Given the description of an element on the screen output the (x, y) to click on. 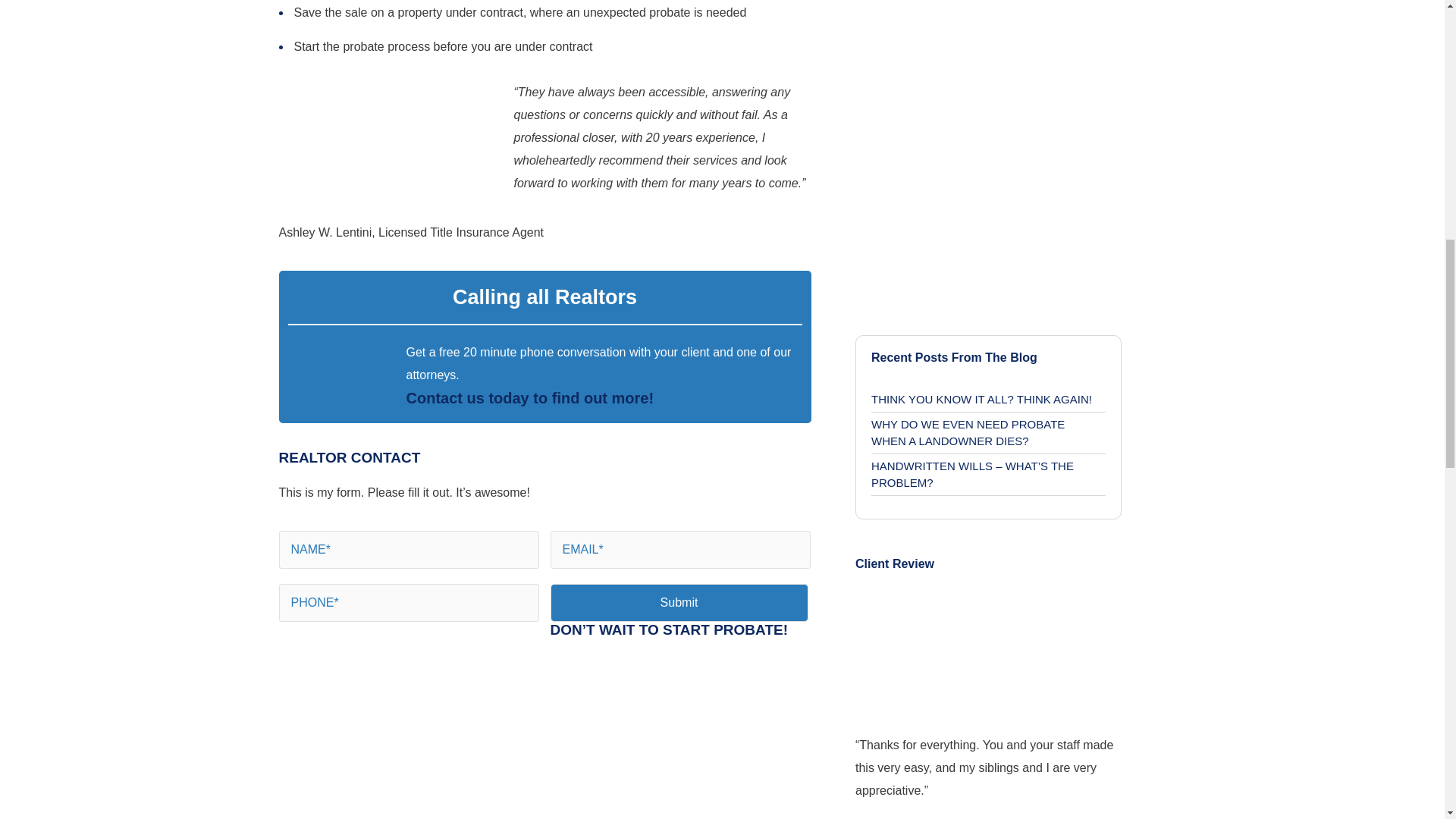
Submit (679, 602)
THINK YOU KNOW IT ALL? THINK AGAIN! (987, 399)
WHY DO WE EVEN NEED PROBATE WHEN A LANDOWNER DIES? (987, 433)
Submit (679, 602)
